Given the description of an element on the screen output the (x, y) to click on. 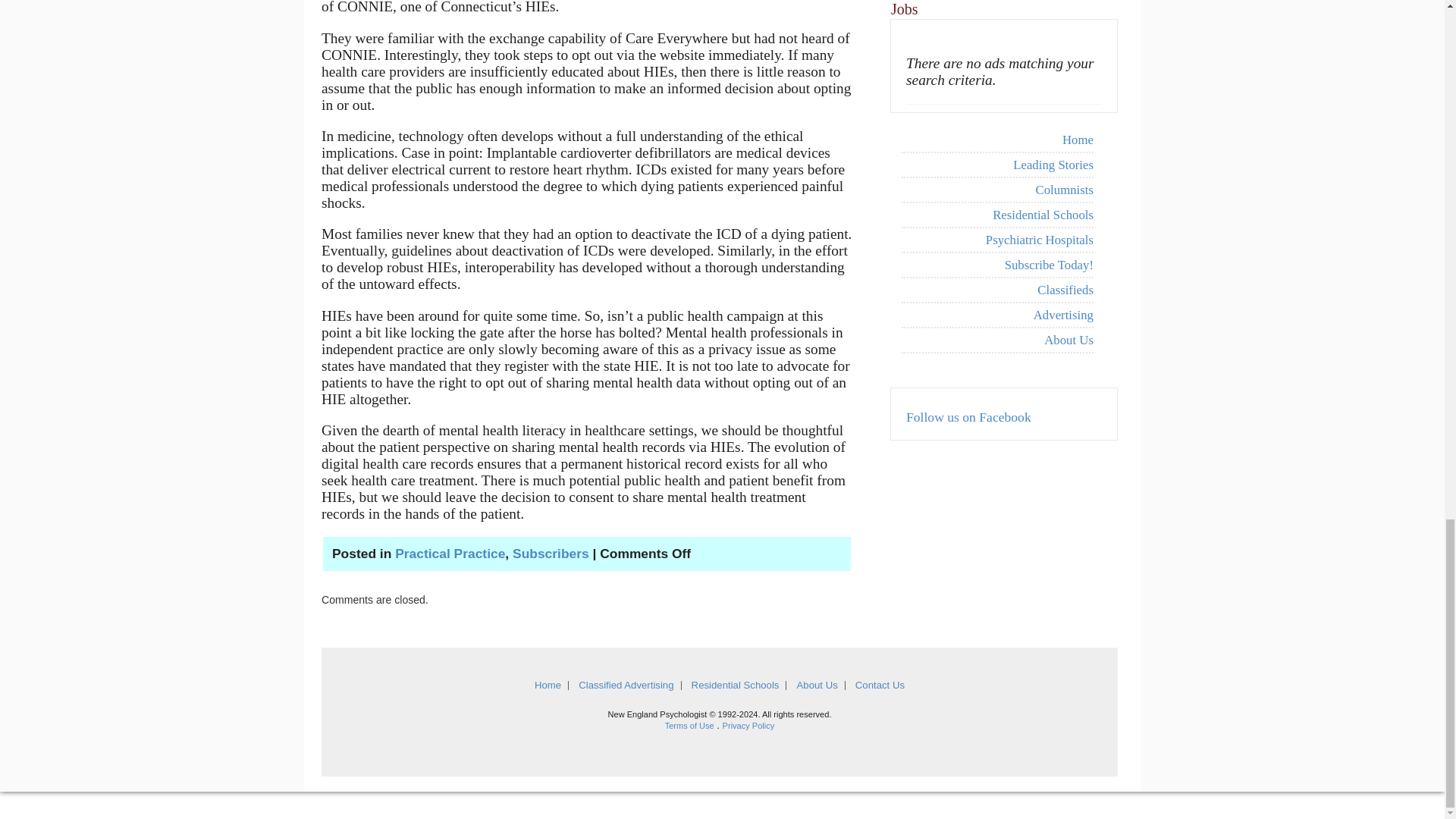
Residential Schools (997, 215)
Practical Practice (449, 553)
Leading Stories (997, 165)
Subscribers (550, 553)
Psychiatric Hospitals (997, 240)
Columnists (997, 190)
Home (997, 140)
